Given the description of an element on the screen output the (x, y) to click on. 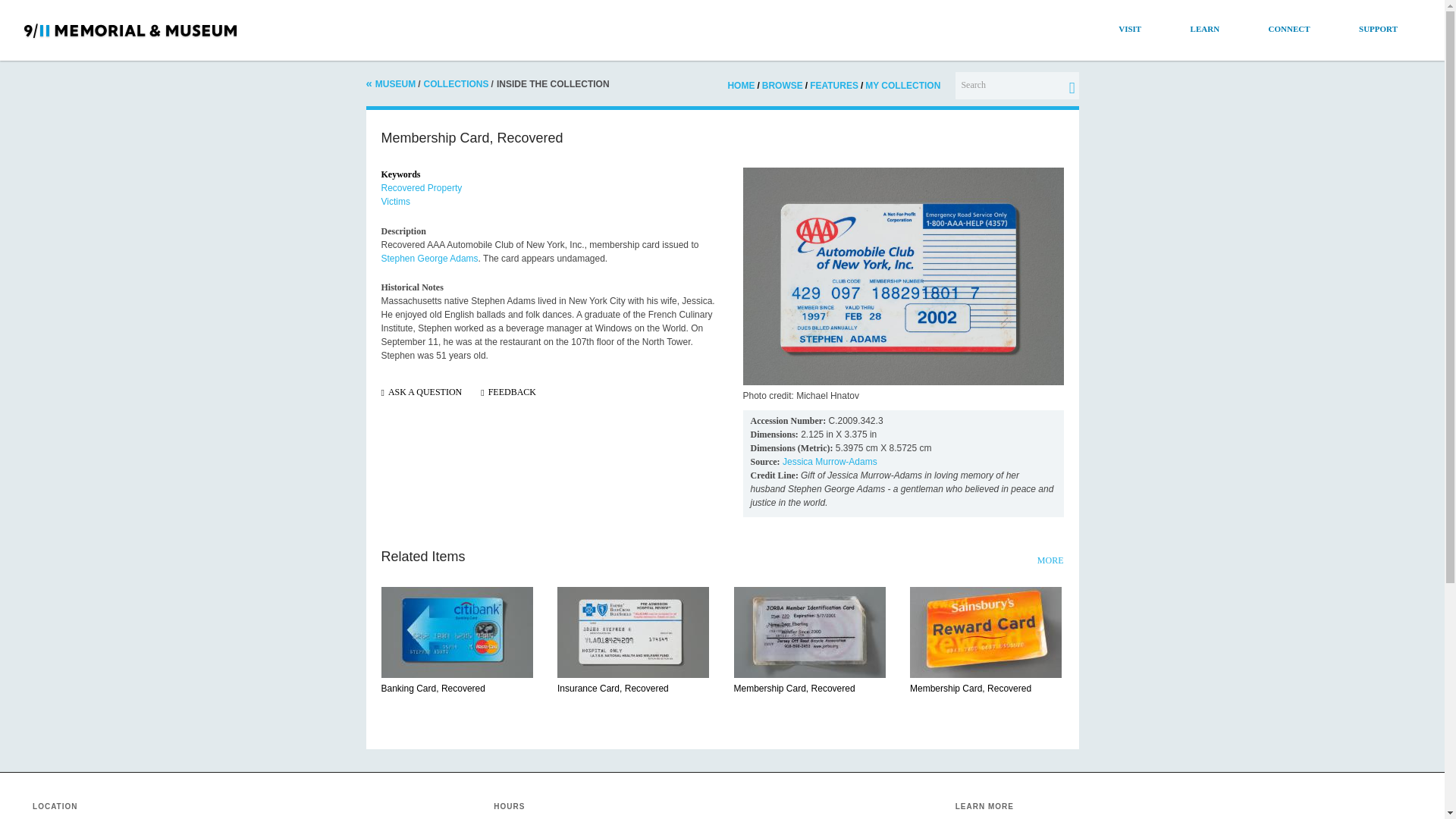
Stephen George Adams (428, 258)
COLLECTIONS (456, 83)
ASK A QUESTION (424, 391)
MY COLLECTION (902, 85)
INSIDE THE COLLECTION (553, 83)
Keywords (400, 173)
Jessica Murrow-Adams (830, 461)
Recovered Property (420, 187)
Victims (394, 201)
